Given the description of an element on the screen output the (x, y) to click on. 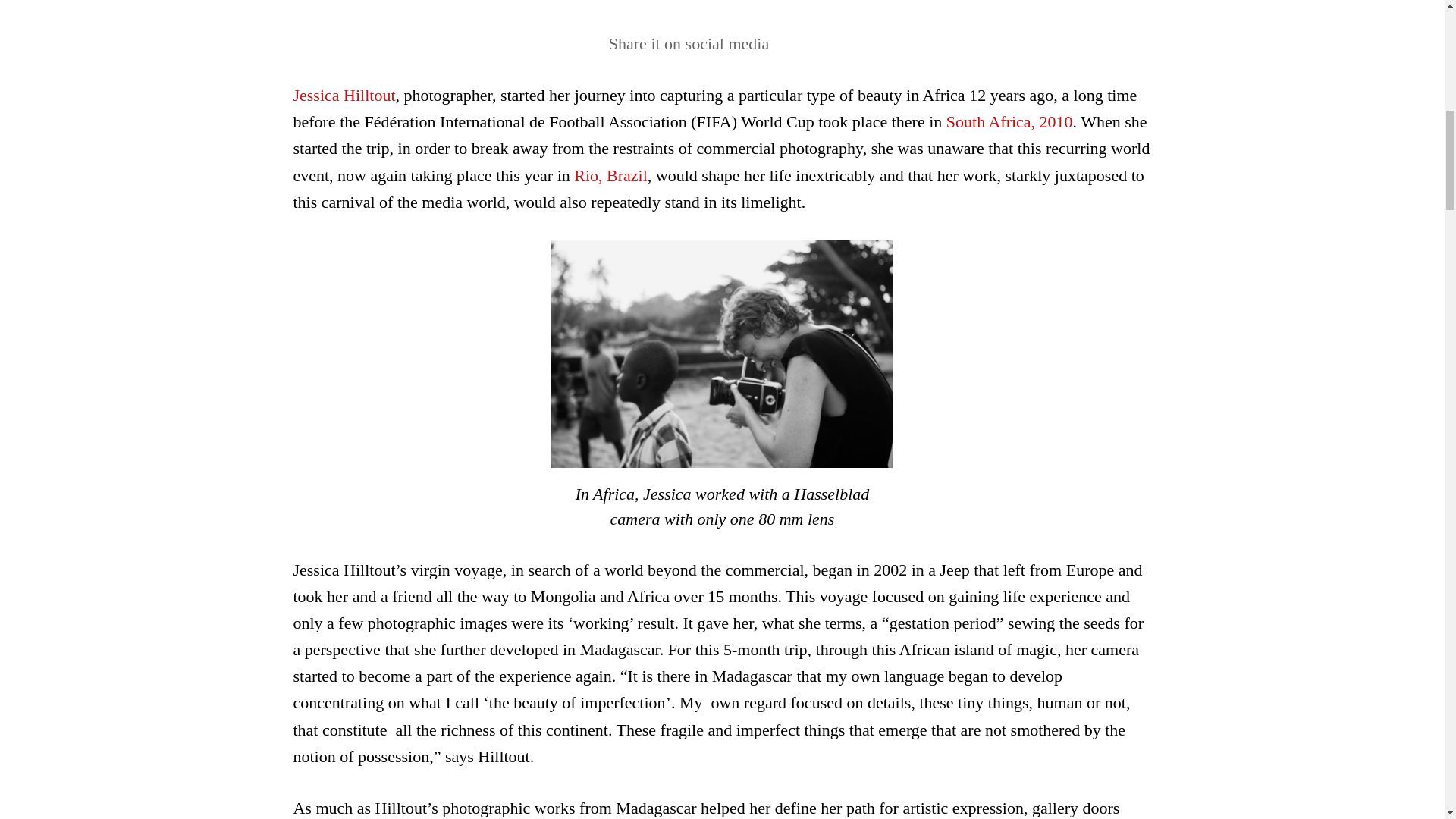
Jessica Hilltout (343, 94)
South Africa, 2010 (1009, 121)
Rio, Brazil (610, 175)
